Given the description of an element on the screen output the (x, y) to click on. 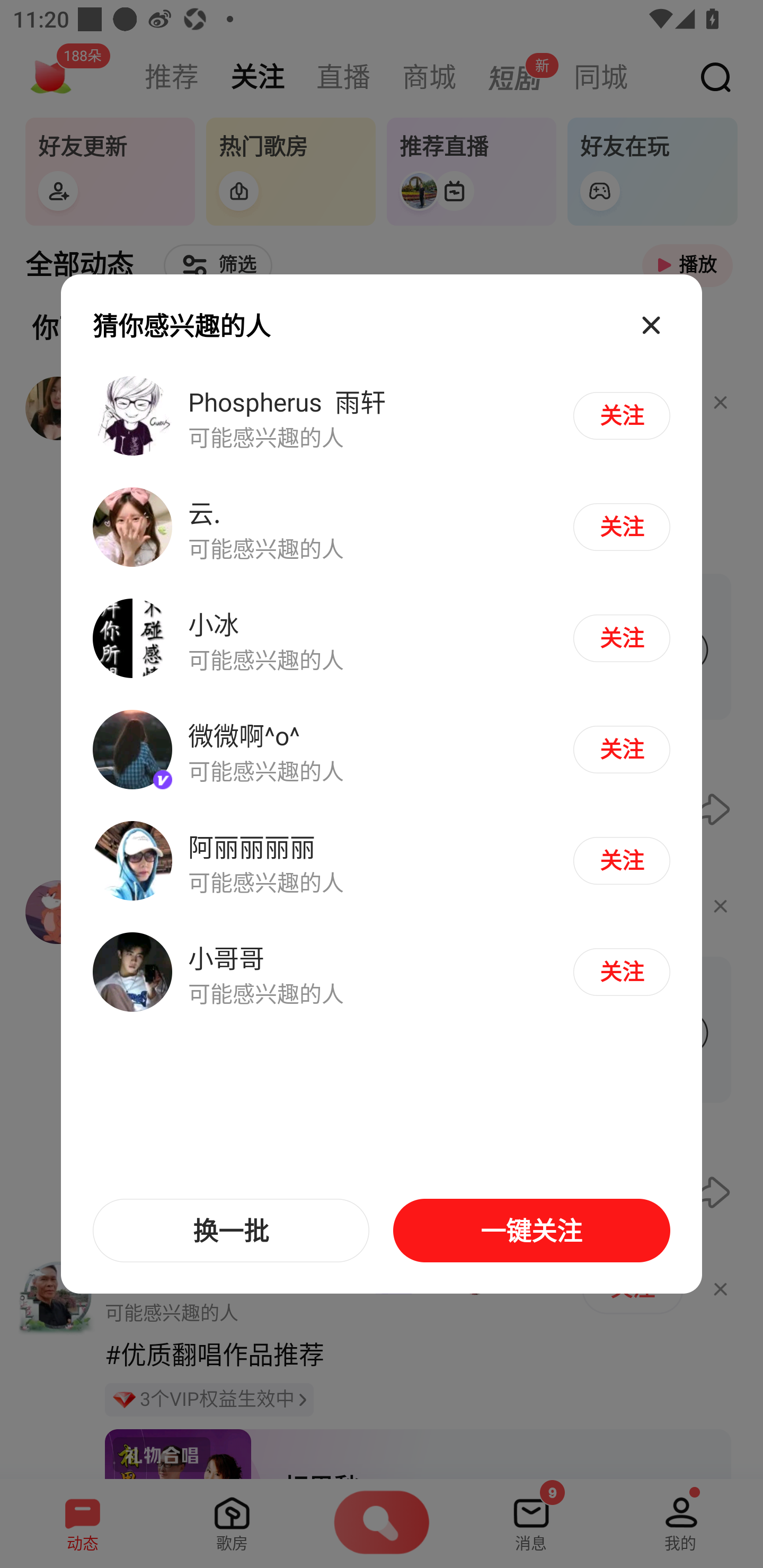
Phospherus  雨轩 可能感兴趣的人 关注 按钮 (381, 415)
关注 按钮 (621, 415)
云. 可能感兴趣的人 关注 按钮 (381, 527)
关注 按钮 (621, 526)
小冰 可能感兴趣的人 关注 按钮 (381, 638)
关注 按钮 (621, 637)
微微啊^o^ 可能感兴趣的人 关注 按钮 (381, 749)
关注 按钮 (621, 749)
阿丽丽丽丽 可能感兴趣的人 关注 按钮 (381, 860)
关注 按钮 (621, 860)
小哥哥 可能感兴趣的人 关注 按钮 (381, 971)
关注 按钮 (621, 971)
换一批 按钮 (231, 1230)
一键关注 按钮 (530, 1230)
